Given the description of an element on the screen output the (x, y) to click on. 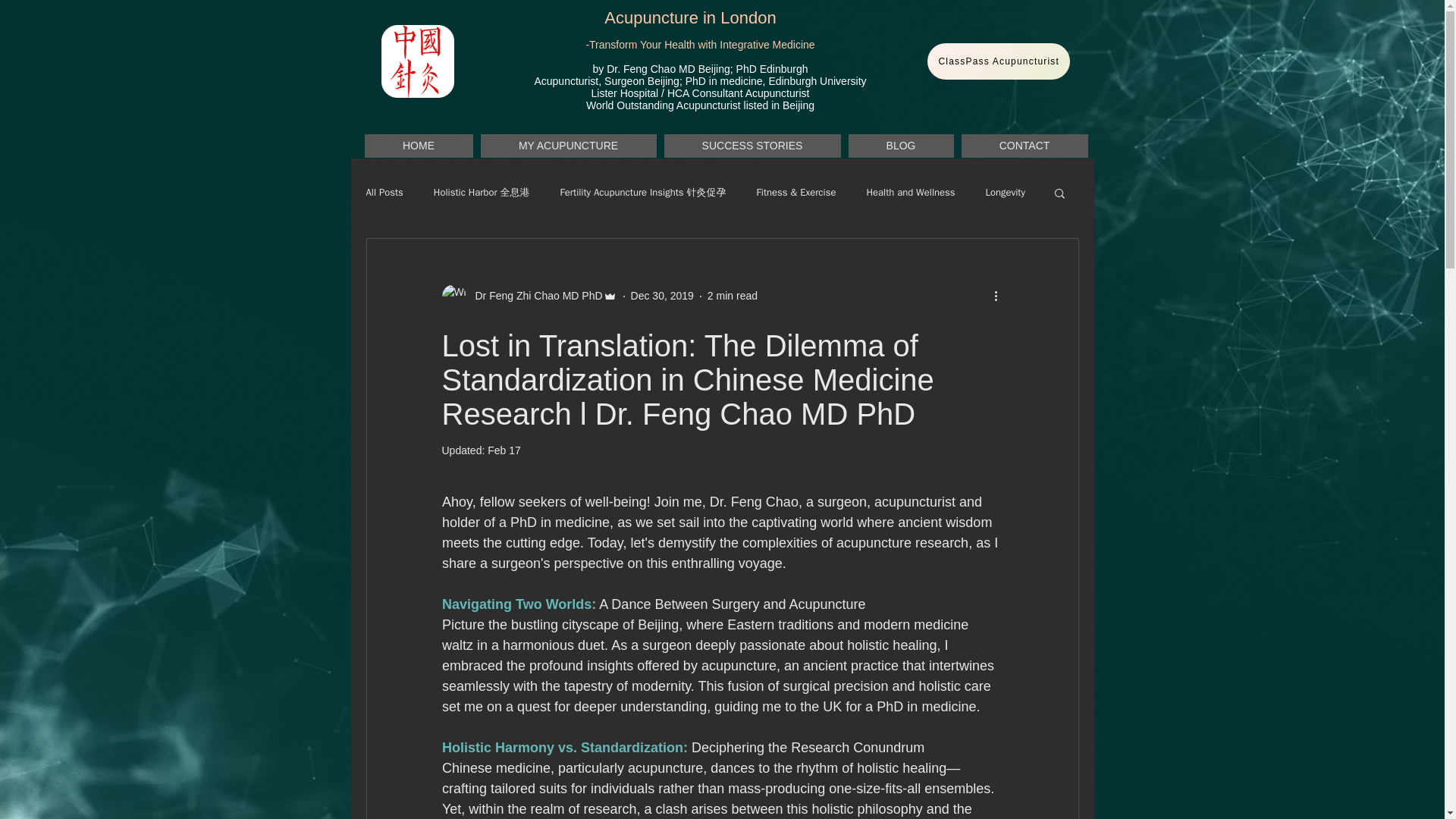
2 min read (732, 295)
BLOG (900, 146)
All Posts (384, 192)
Longevity (1005, 192)
Dr Feng Zhi Chao MD PhD (528, 296)
Health and Wellness (910, 192)
MY ACUPUNCTURE (568, 146)
Feb 17 (504, 450)
Dr Feng Zhi Chao MD PhD (533, 295)
Dec 30, 2019 (662, 295)
